Given the description of an element on the screen output the (x, y) to click on. 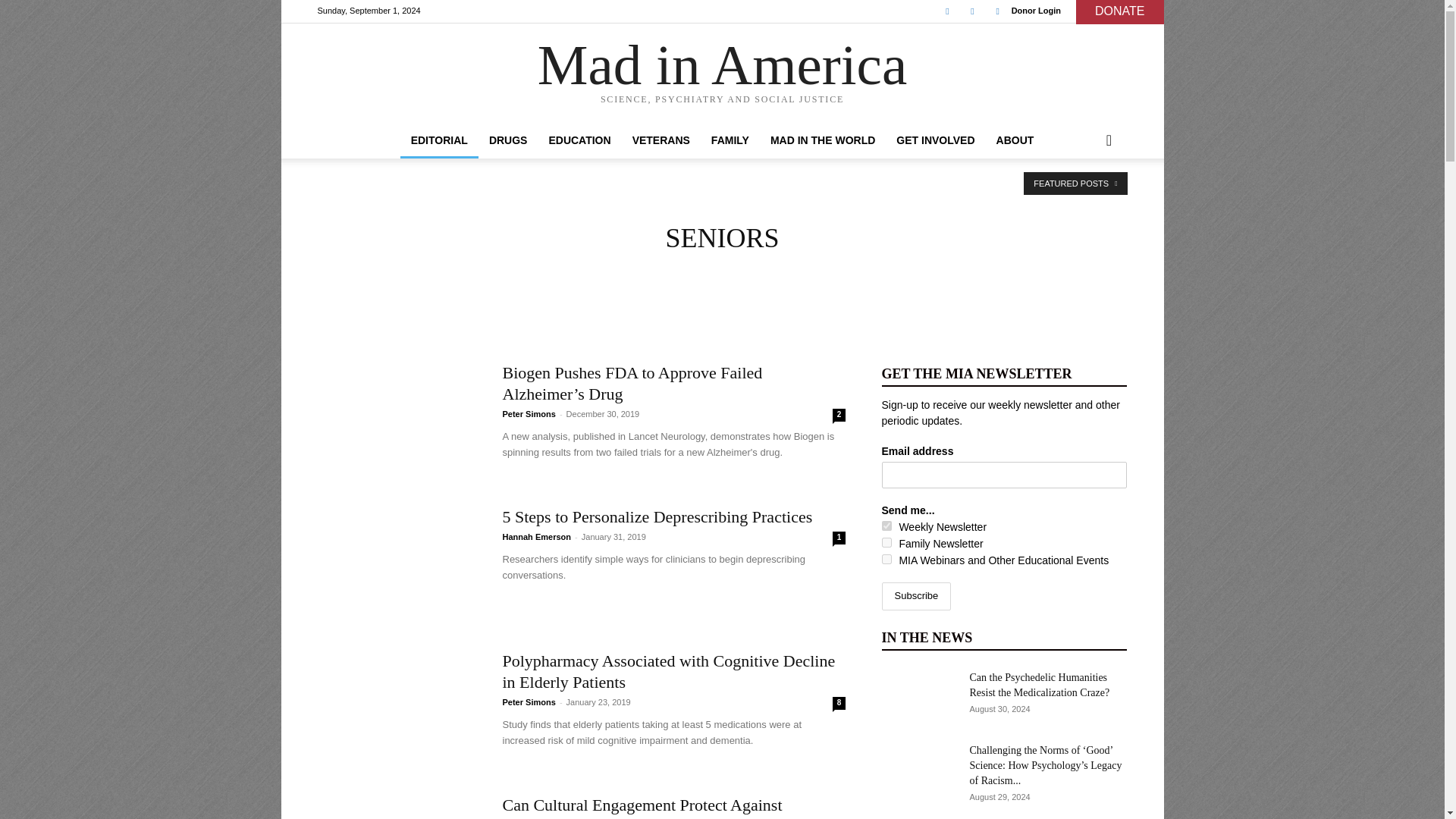
59a3706891 (885, 559)
a8b577bac2 (885, 525)
Twitter (972, 10)
Posts by Hannah Emerson (536, 536)
Facebook (947, 10)
Subscribe (915, 596)
Youtube (998, 10)
64ec82b4cd (885, 542)
Posts by Peter Simons (528, 413)
5 Steps to Personalize Deprescribing Practices (657, 516)
